Given the description of an element on the screen output the (x, y) to click on. 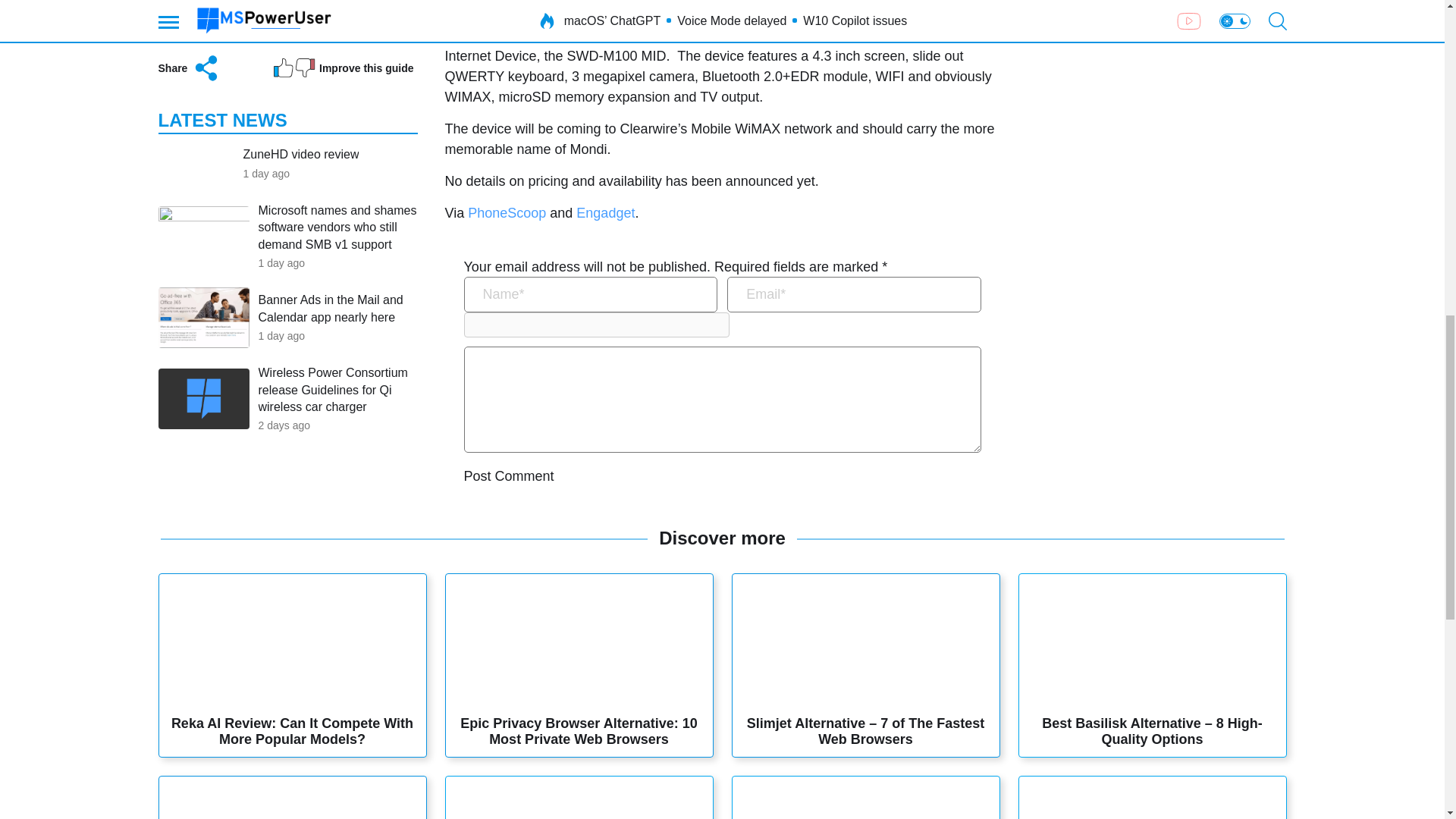
samsung-mid-with-wimax-rm-eng (777, 4)
2-18-09-samsung-mid (559, 4)
Post Comment (509, 476)
